Given the description of an element on the screen output the (x, y) to click on. 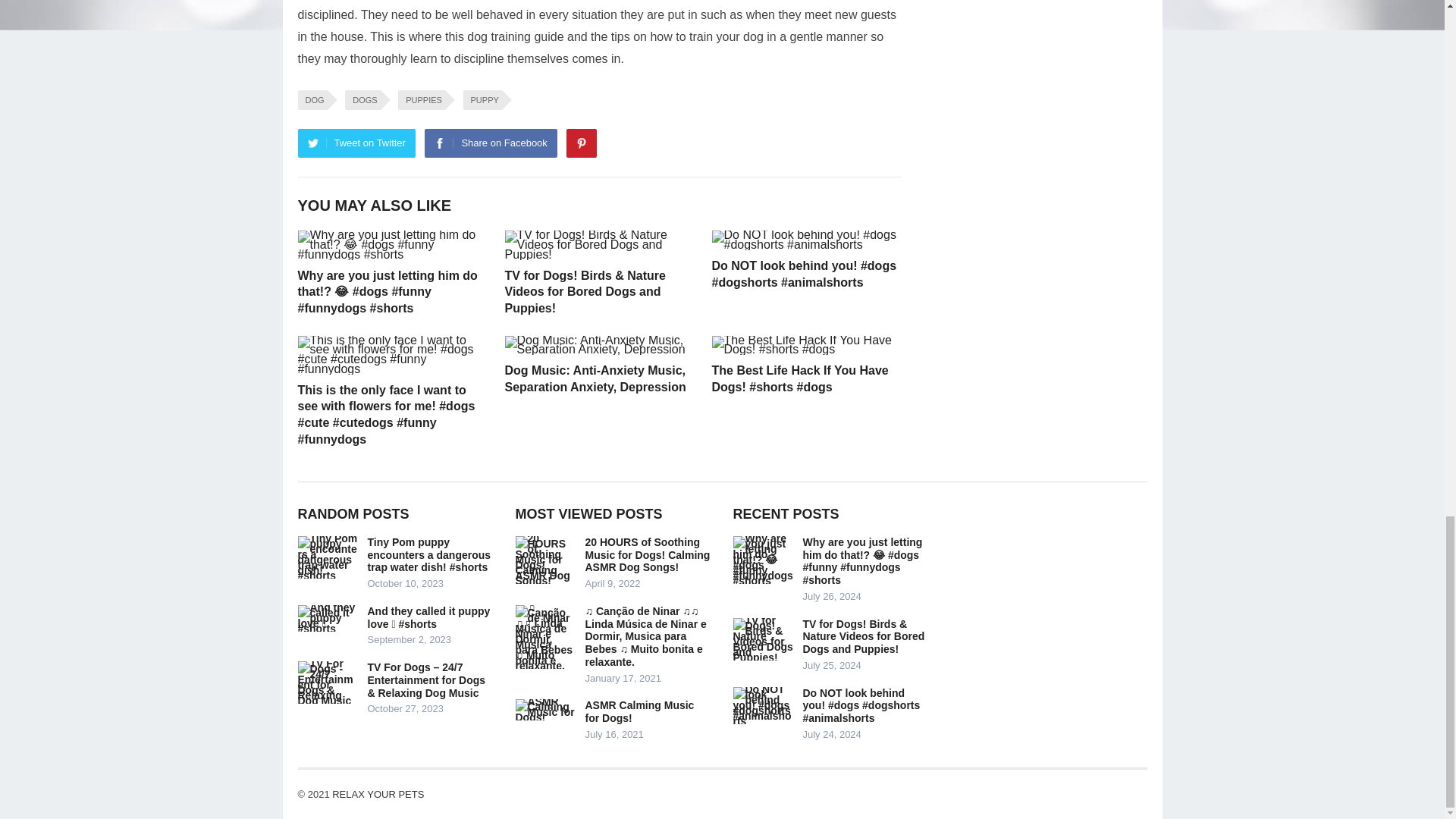
DOG (311, 99)
